Given the description of an element on the screen output the (x, y) to click on. 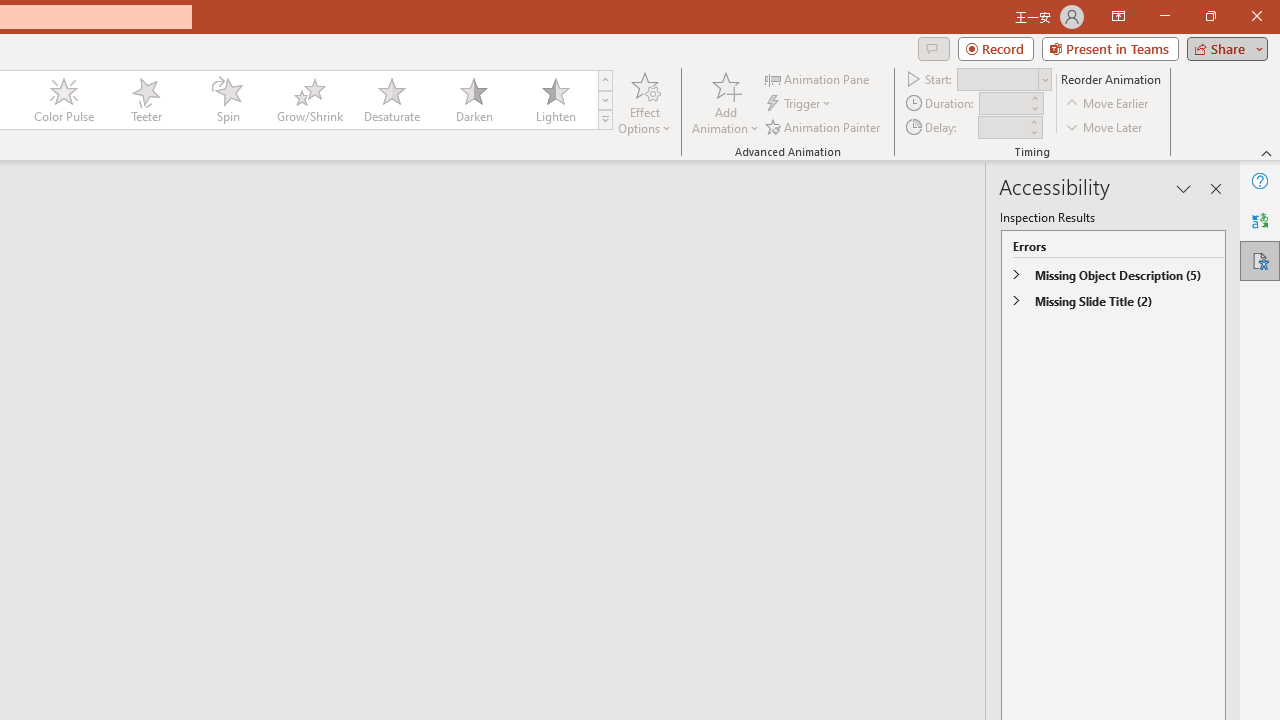
Minimize (1164, 16)
Animation Styles (605, 120)
Add Animation (725, 102)
Spin (227, 100)
Trigger (799, 103)
Desaturate (391, 100)
Move Earlier (1107, 103)
Comments (933, 48)
Move Later (1105, 126)
Accessibility (1260, 260)
Effect Options (644, 102)
Start (1004, 78)
Share (1223, 48)
Open (1044, 79)
Animation Delay (1002, 127)
